Given the description of an element on the screen output the (x, y) to click on. 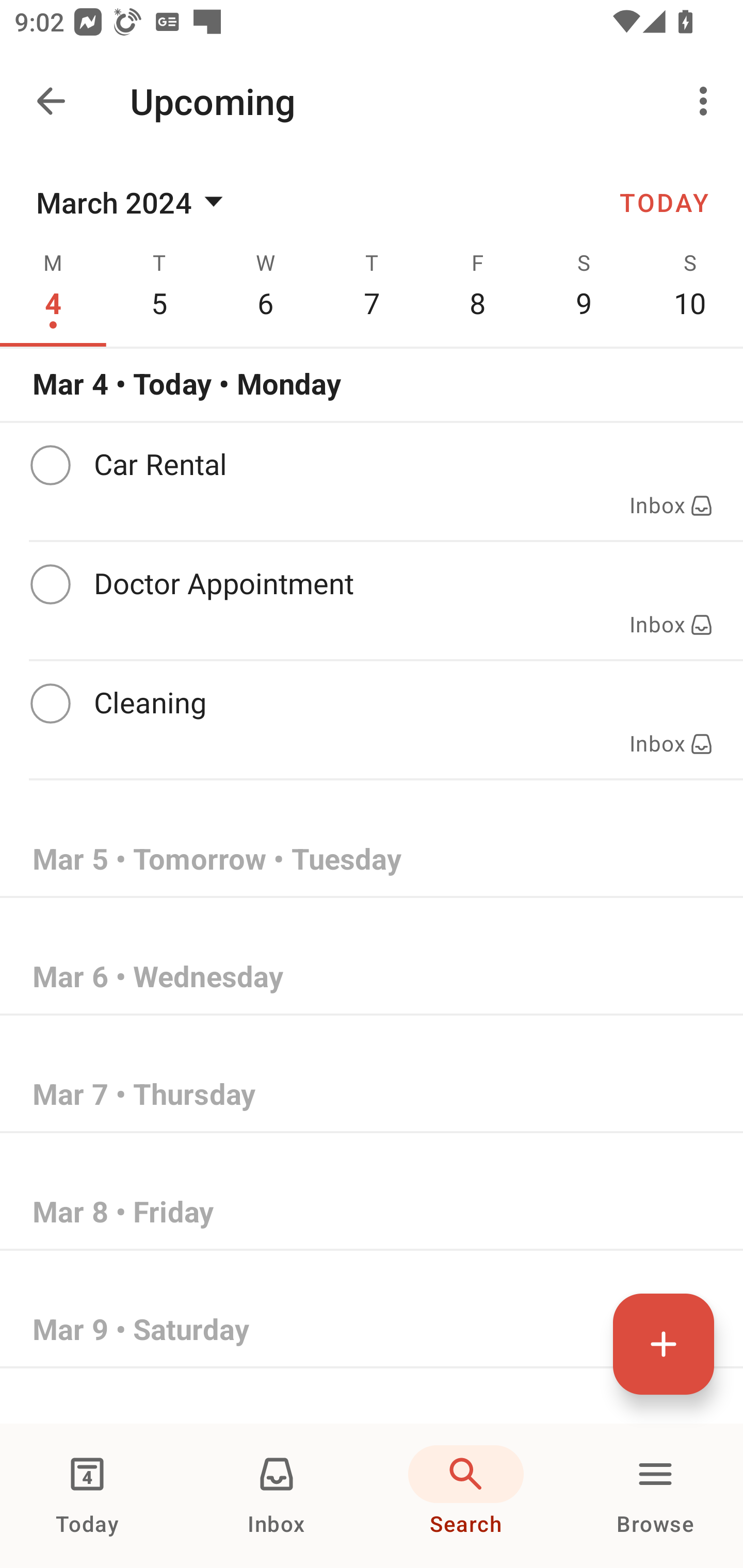
Navigate up Upcoming More options (371, 100)
Navigate up (50, 101)
More options (706, 101)
March 2024 (133, 202)
TODAY (663, 202)
Mar 4 • Today • Monday (371, 384)
Complete Car Rental Inbox (371, 481)
Complete (50, 465)
Complete Doctor Appointment Inbox (371, 600)
Complete (50, 584)
Complete Cleaning Inbox (371, 719)
Complete (50, 703)
Mar 5 • Tomorrow • Tuesday (371, 859)
Mar 6 • Wednesday (371, 976)
Mar 7 • Thursday (371, 1094)
Mar 8 • Friday (371, 1212)
Quick add (663, 1343)
Mar 9 • Saturday (371, 1329)
Today (87, 1495)
Inbox (276, 1495)
Browse (655, 1495)
